Given the description of an element on the screen output the (x, y) to click on. 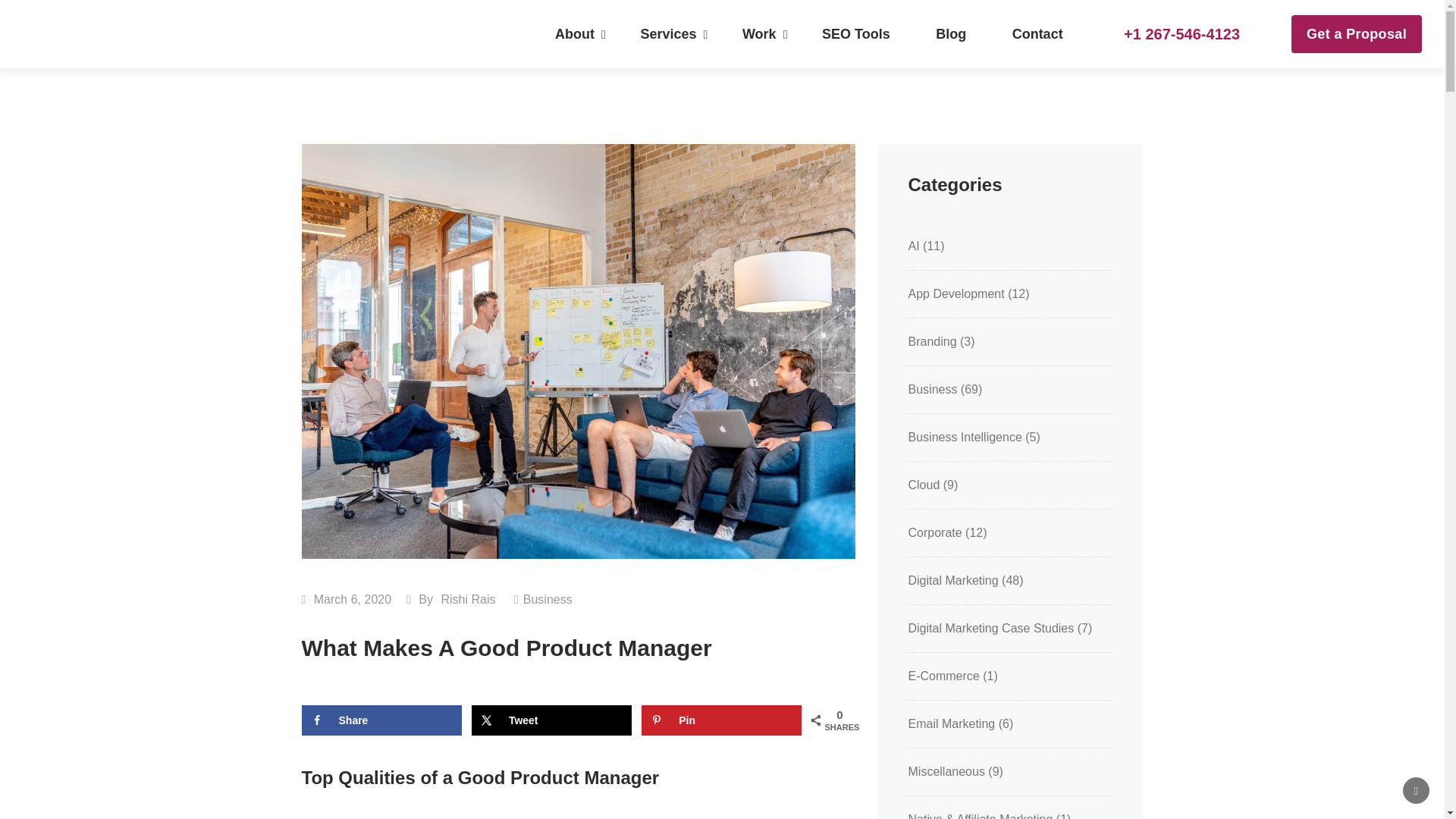
Share on Facebook (381, 720)
Get a Proposal (1356, 34)
Save to Pinterest (722, 720)
Share on X (551, 720)
Back to Top (1416, 790)
Contact (1037, 34)
Rishi Rais (468, 599)
Services (667, 34)
SEO Tools (855, 34)
